Given the description of an element on the screen output the (x, y) to click on. 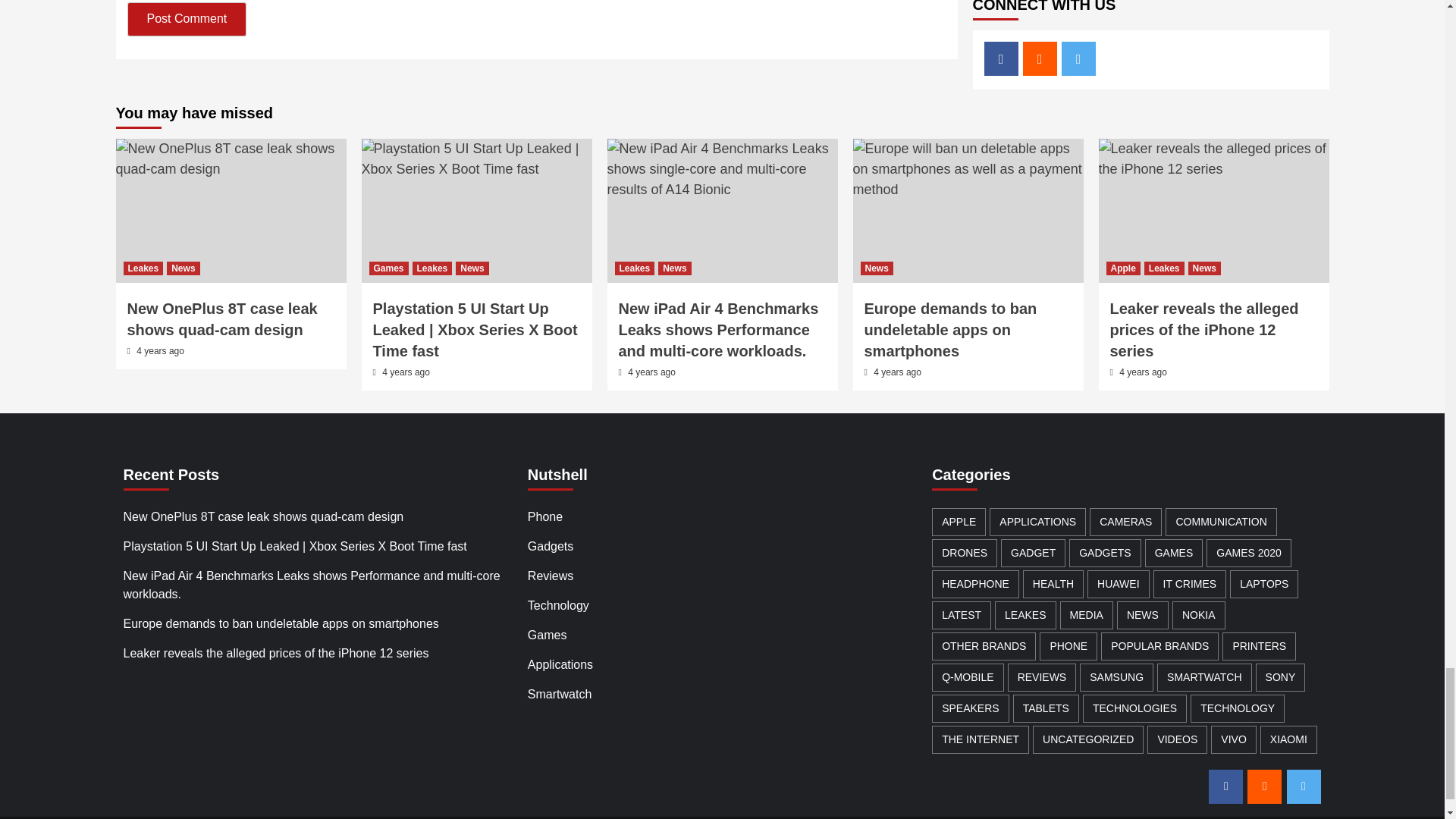
Post Comment (187, 19)
